Given the description of an element on the screen output the (x, y) to click on. 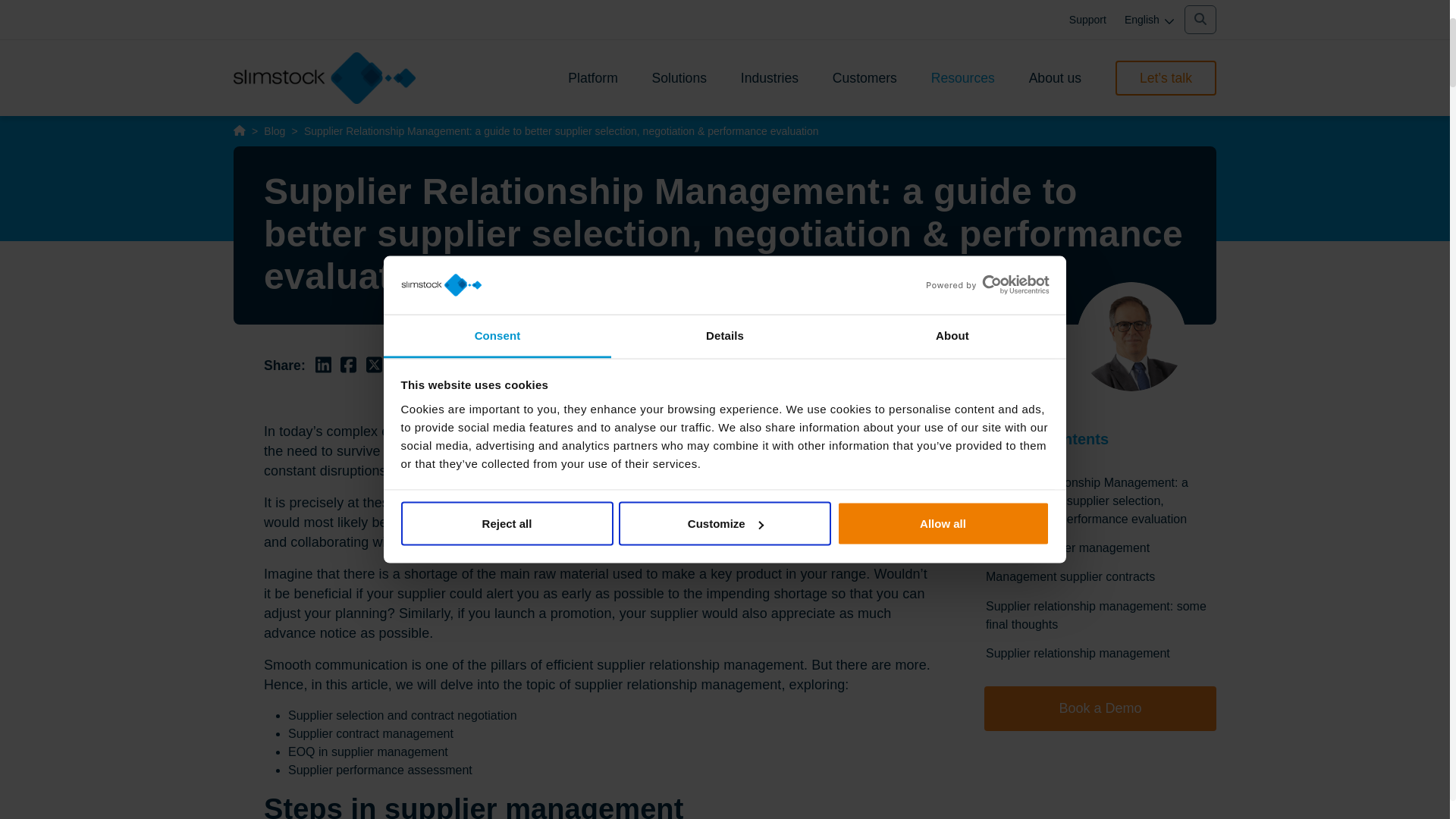
Consent (497, 335)
Details (724, 335)
Book a Demo (1099, 708)
About (951, 335)
